Given the description of an element on the screen output the (x, y) to click on. 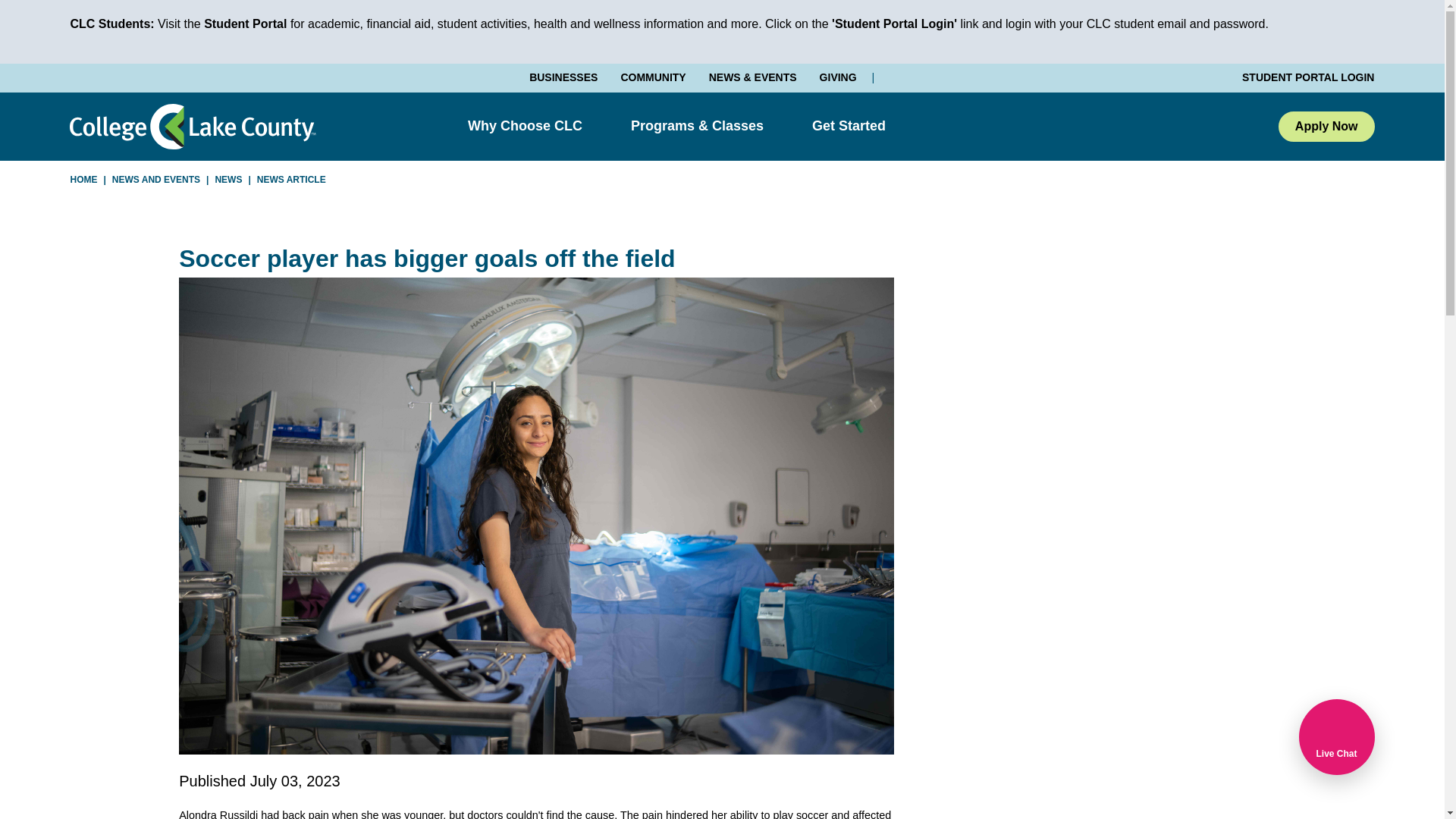
GIVING (838, 77)
Get Started (848, 126)
Live Chat (1336, 736)
NEWS AND EVENTS (156, 179)
NEWS (227, 179)
COMMUNITY (652, 77)
Why Choose CLC (524, 126)
HOME (83, 179)
STUDENT PORTAL LOGIN (1300, 77)
BUSINESSES (562, 77)
Apply Now (1326, 126)
